Given the description of an element on the screen output the (x, y) to click on. 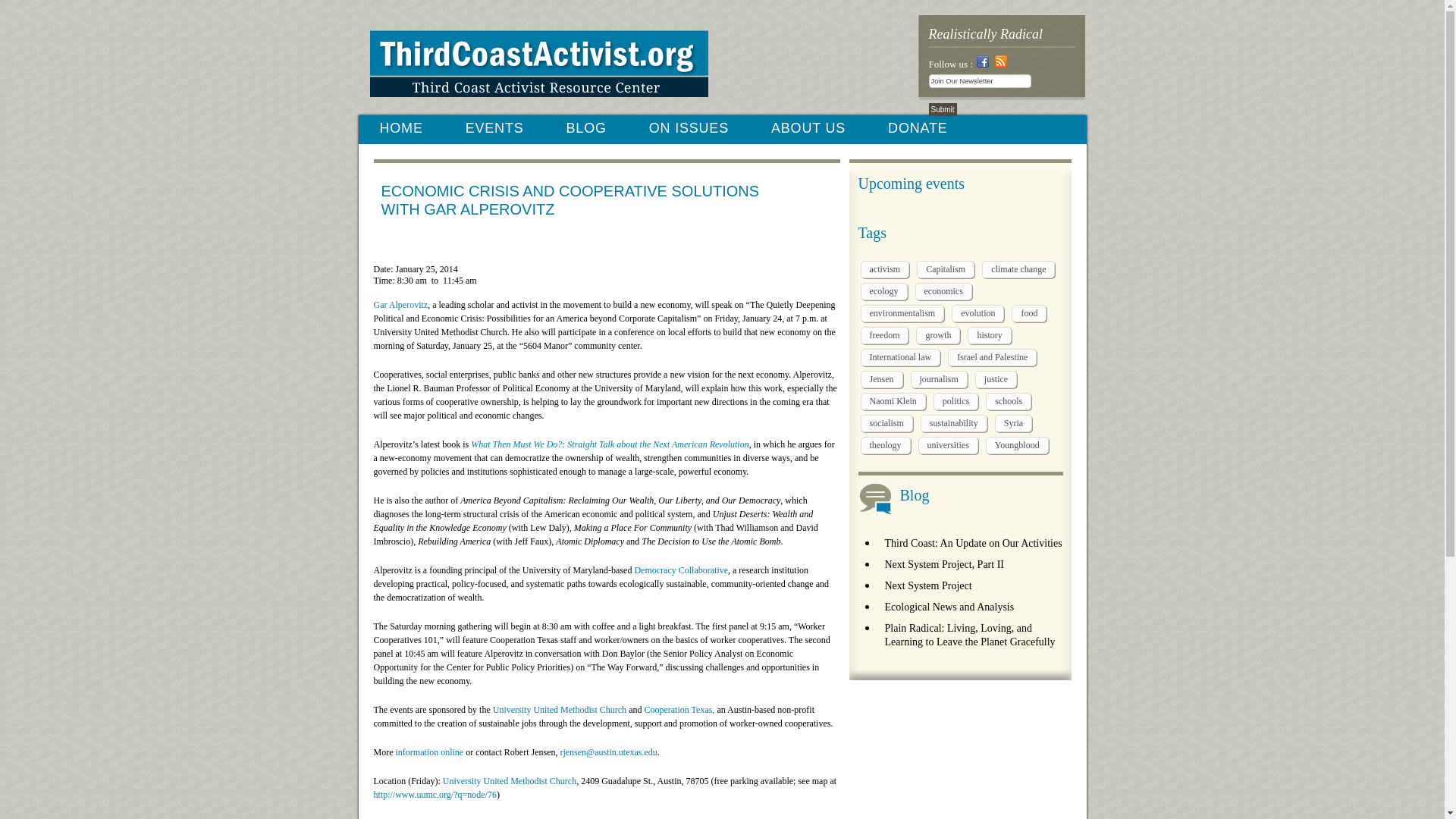
economics (942, 291)
Capitalism (945, 269)
EVENTS (494, 128)
Submit (942, 109)
University United Methodist Church (559, 709)
information online (430, 751)
ecology (883, 291)
HOME (401, 128)
Israel and Palestine (991, 357)
evolution (978, 313)
DONATE (917, 128)
Democracy Collaborative (680, 570)
5604 Manor (473, 818)
environmentalism (901, 313)
